Given the description of an element on the screen output the (x, y) to click on. 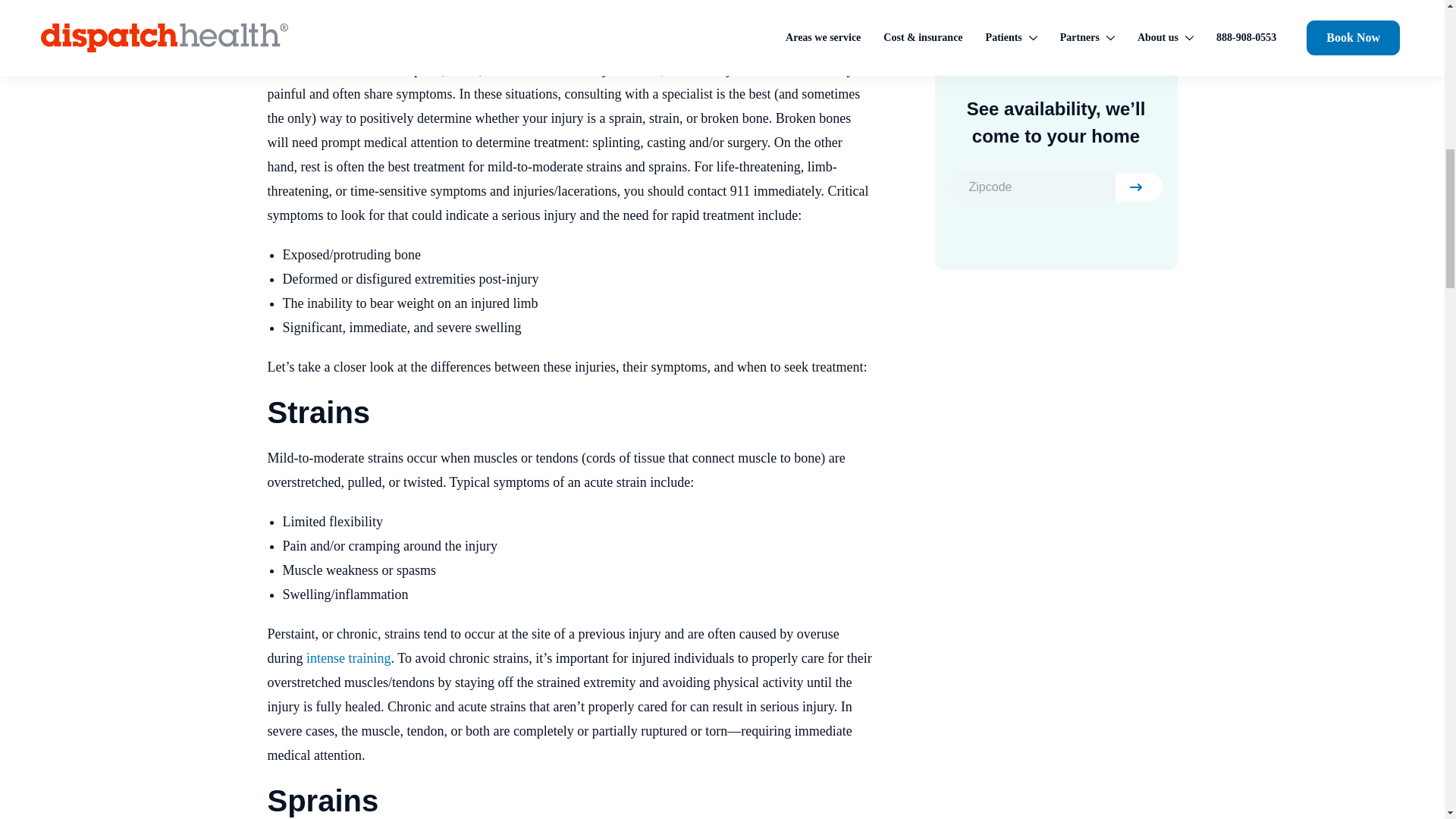
Enter (1138, 186)
